Given the description of an element on the screen output the (x, y) to click on. 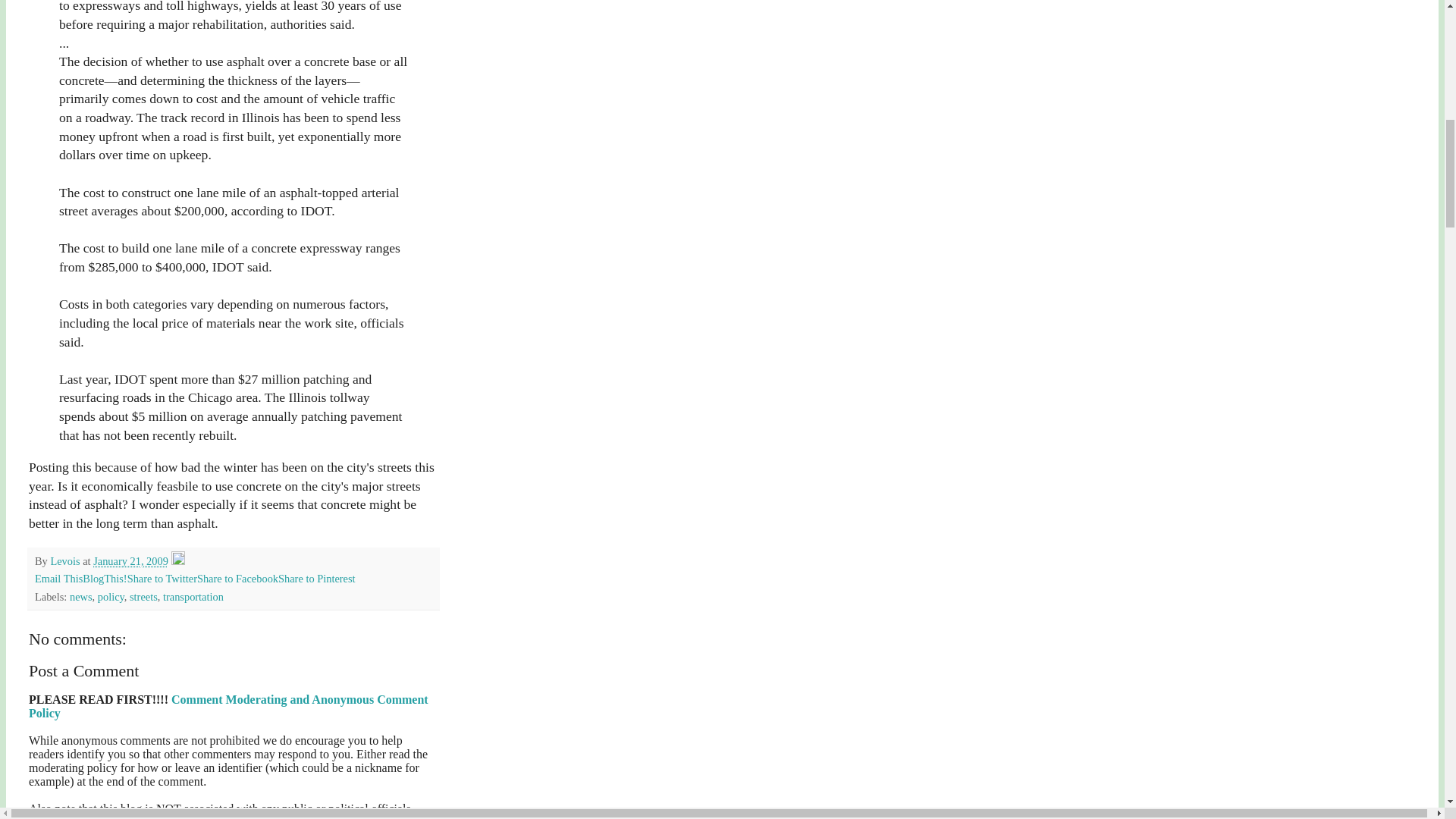
transportation (193, 595)
policy (110, 595)
Levois (65, 561)
Share to Facebook (237, 578)
Edit Post (177, 561)
BlogThis! (104, 578)
news (81, 595)
Share to Pinterest (316, 578)
Share to Twitter (162, 578)
Email This (58, 578)
Email This (58, 578)
Share to Pinterest (316, 578)
Share to Twitter (162, 578)
streets (143, 595)
Comment Moderating and Anonymous Comment Policy (228, 705)
